Given the description of an element on the screen output the (x, y) to click on. 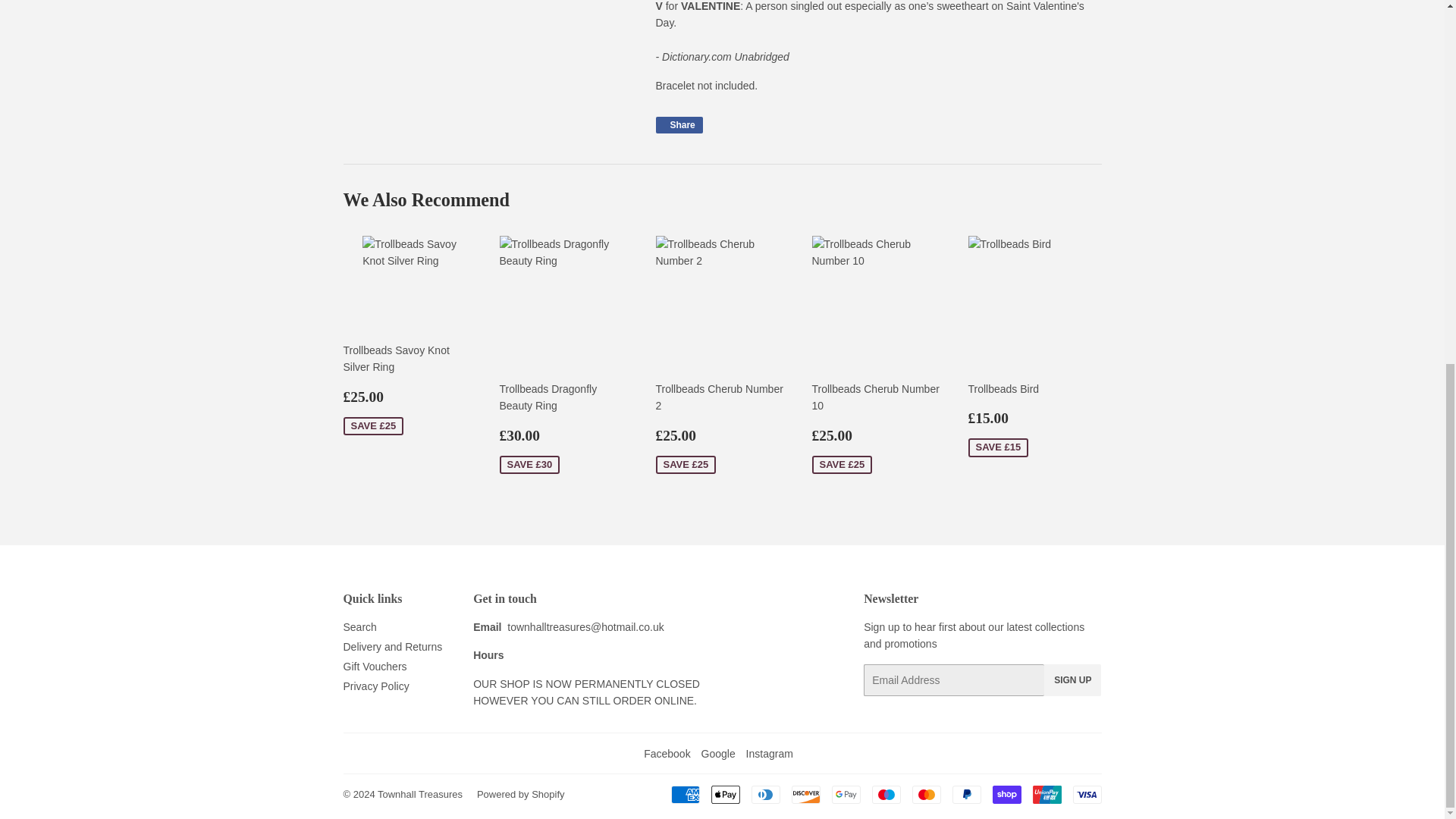
American Express (683, 794)
Apple Pay (725, 794)
Google Pay (845, 794)
Shop Pay (1005, 794)
Diners Club (764, 794)
Share on Facebook (678, 125)
Townhall Treasures on Facebook (666, 753)
PayPal (966, 794)
Townhall Treasures on Instagram (769, 753)
Maestro (886, 794)
